Given the description of an element on the screen output the (x, y) to click on. 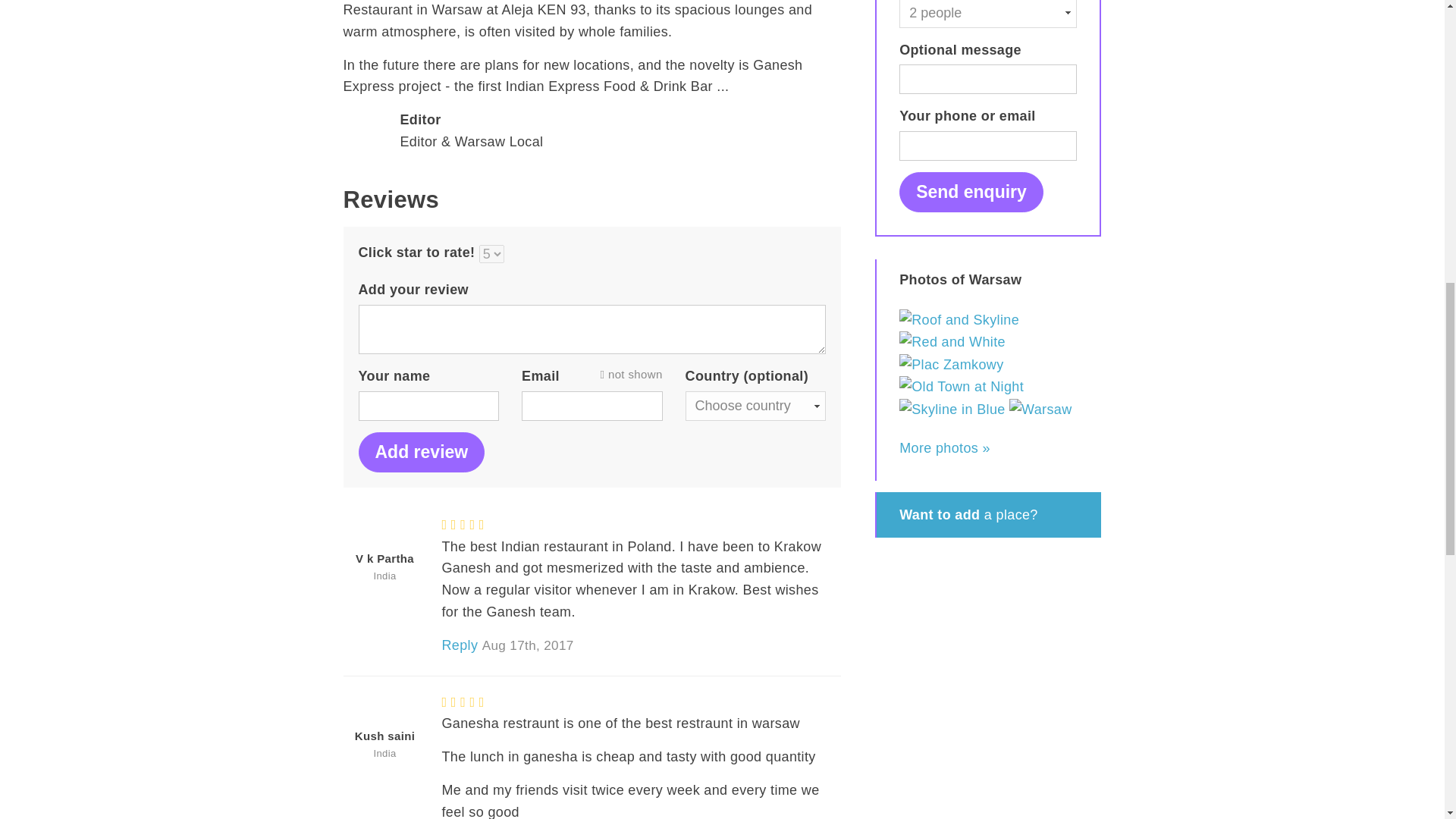
Send enquiry (971, 191)
Want to add a place? (988, 514)
Send enquiry (971, 191)
Add review (421, 452)
Reply (459, 645)
Add review (421, 452)
